Given the description of an element on the screen output the (x, y) to click on. 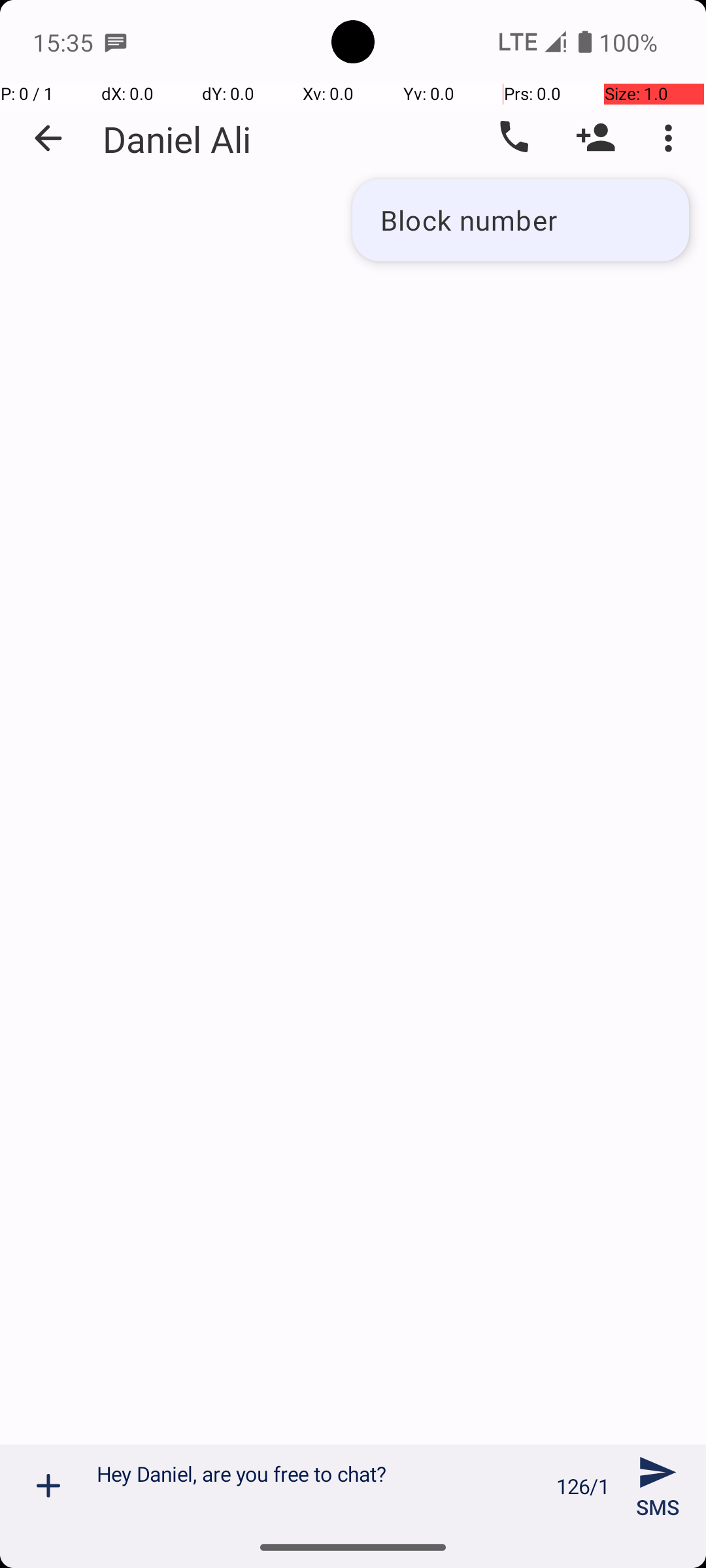
Block number Element type: android.widget.TextView (520, 219)
SMS Messenger notification: Isla da Silva Element type: android.widget.ImageView (115, 41)
